Given the description of an element on the screen output the (x, y) to click on. 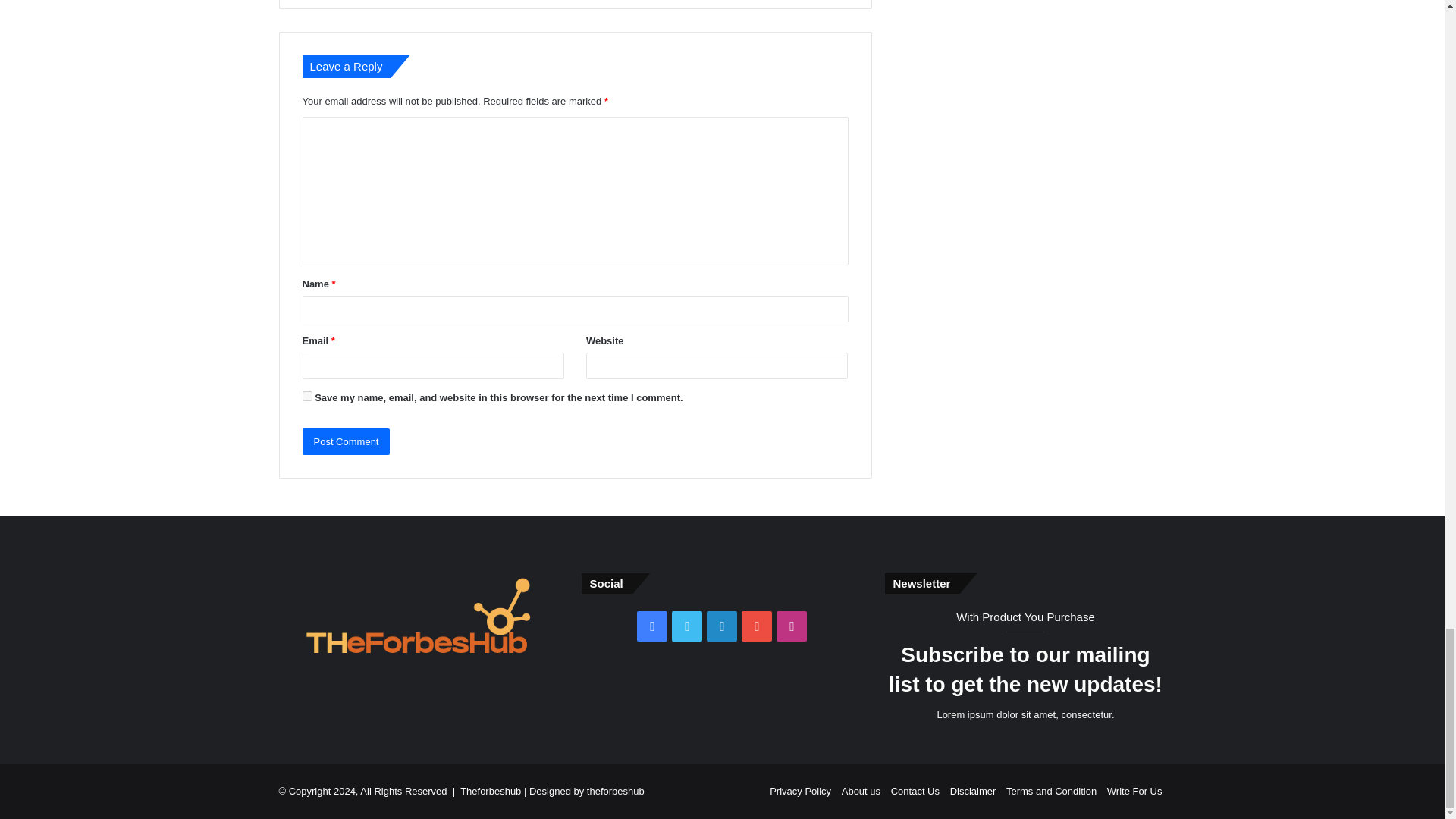
yes (306, 396)
Post Comment (345, 441)
